Given the description of an element on the screen output the (x, y) to click on. 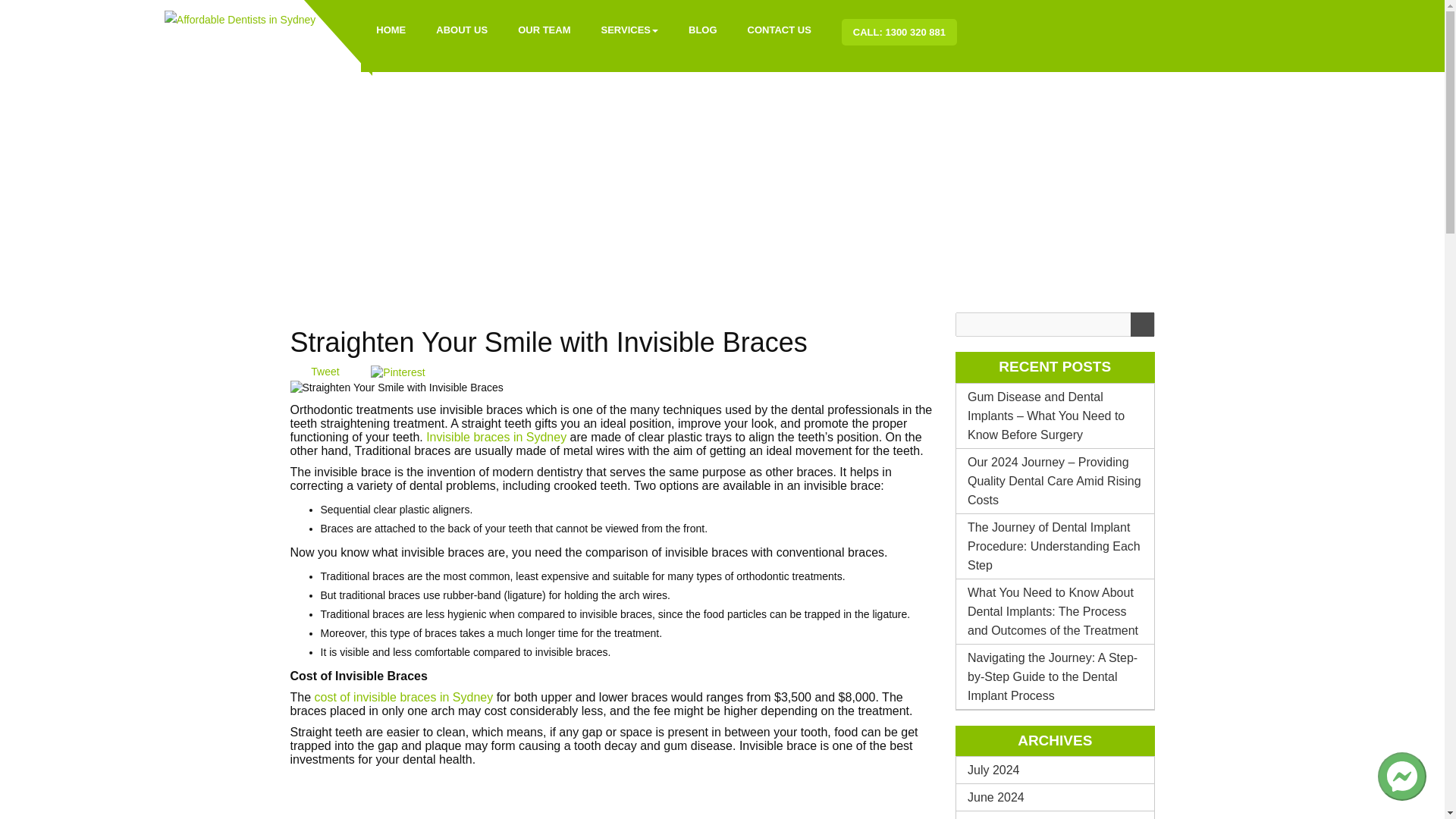
CONTACT US (779, 30)
Search (1141, 324)
July 2024 (1055, 769)
HOME (390, 30)
Straighten Your Smile with Invisible Braces (395, 387)
June 2024 (1055, 796)
Tweet (325, 371)
May 2024 (1055, 815)
Search (1141, 324)
Pinterest (398, 372)
SERVICES (628, 30)
cost of invisible braces in Sydney (403, 697)
